Given the description of an element on the screen output the (x, y) to click on. 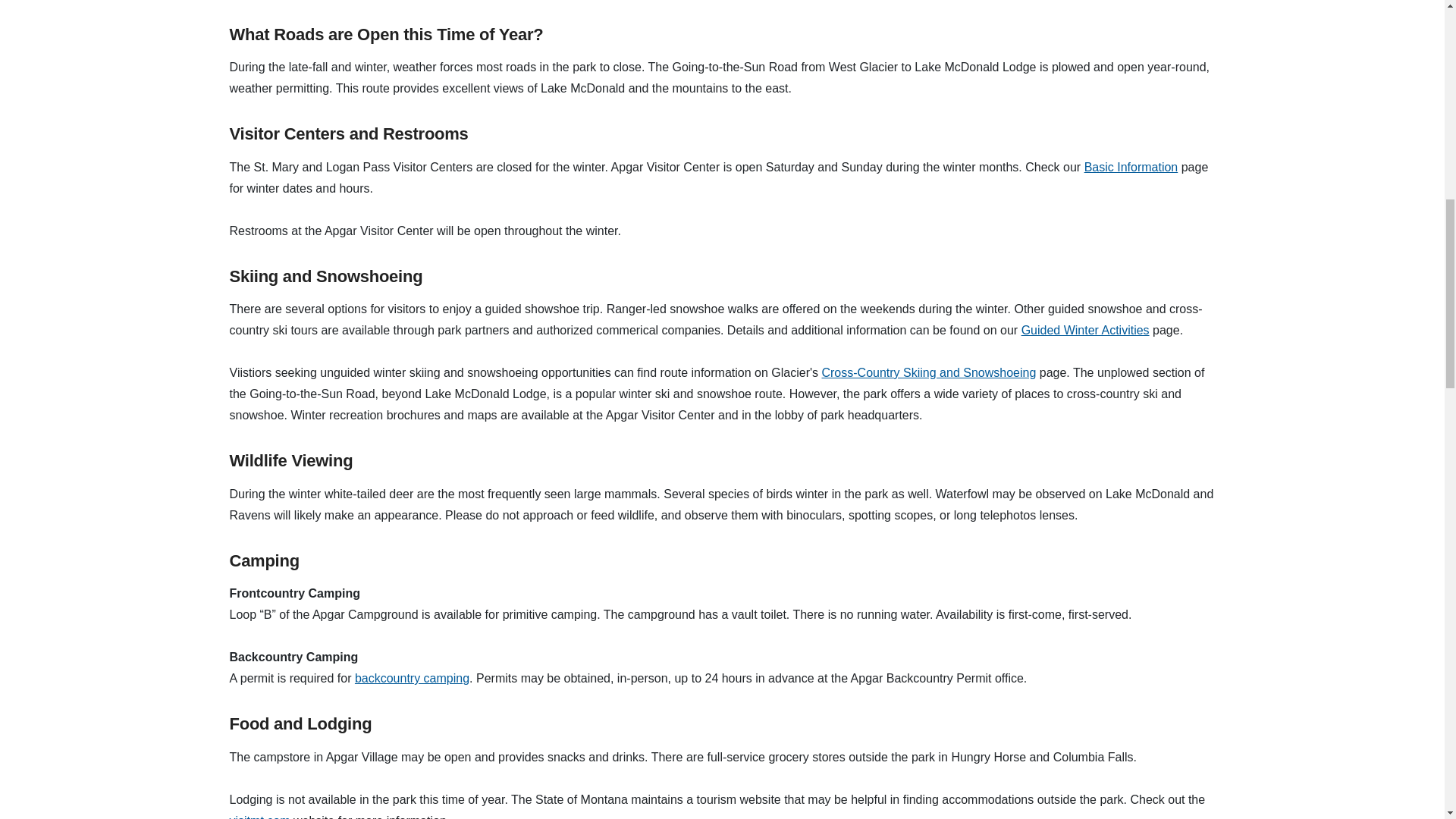
Guided Winter Activities (1086, 329)
Cross-Country Skiing and Snowshoeing (928, 372)
Basic Information (1130, 166)
backcountry camping (411, 677)
visitmt.com (258, 816)
